Given the description of an element on the screen output the (x, y) to click on. 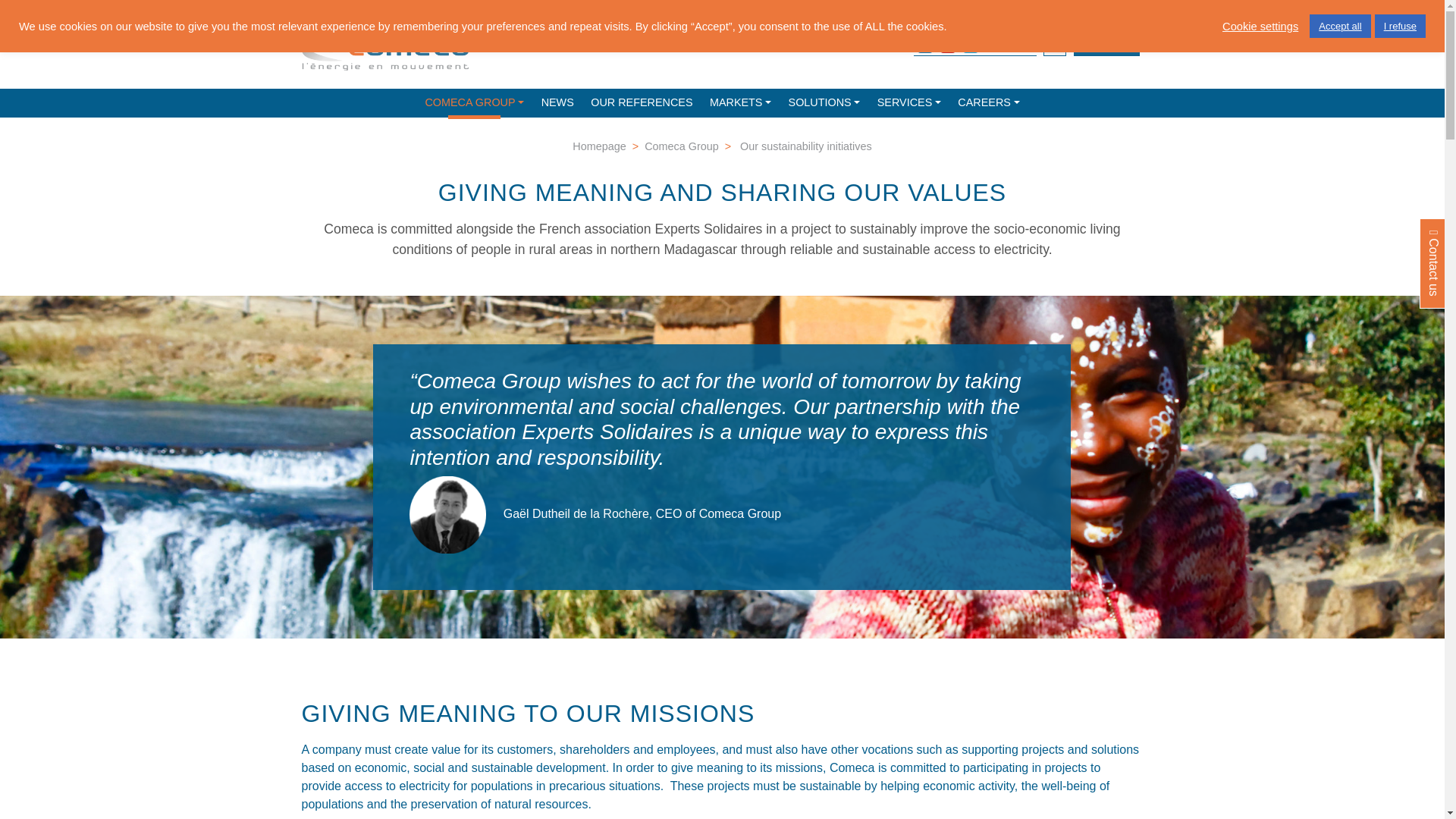
MARKETS (740, 102)
OUR REFERENCES (642, 102)
FR (1000, 40)
Contact (1107, 44)
COMECA GROUP (474, 102)
SOLUTIONS (824, 102)
SERVICES (908, 102)
News (557, 102)
Markets (740, 102)
Comeca Group (474, 102)
EN (1024, 40)
NEWS (557, 102)
Solutions (824, 102)
CAREERS (988, 102)
Our references (642, 102)
